Given the description of an element on the screen output the (x, y) to click on. 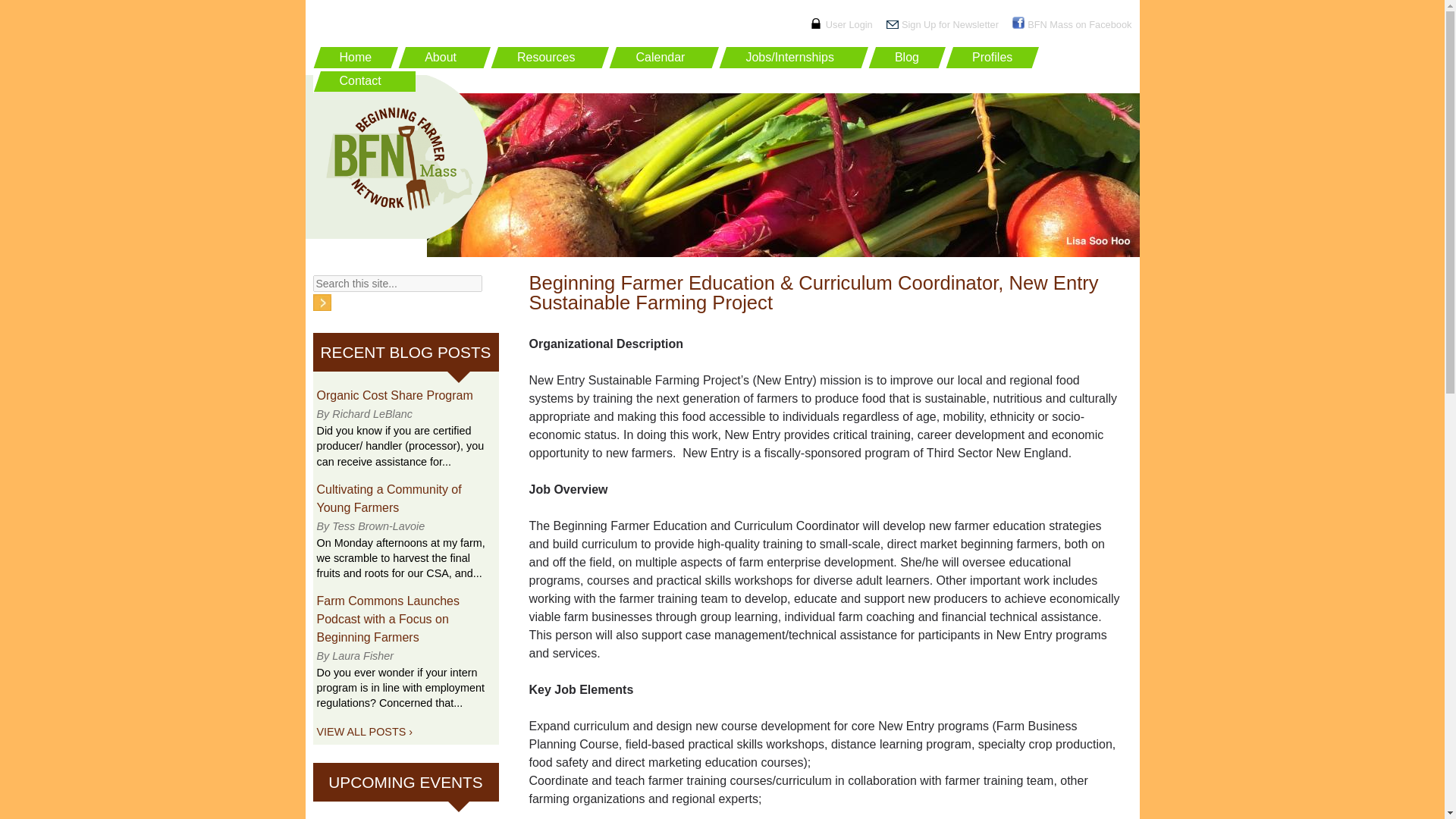
Profiles (992, 56)
Resources (549, 56)
BFN Mass on Facebook (1079, 24)
About (443, 56)
User Login (848, 24)
Blog (907, 56)
Contact (362, 81)
Enter the terms you wish to search for. (397, 283)
Home (354, 56)
Organic Cost Share Program (395, 395)
